Given the description of an element on the screen output the (x, y) to click on. 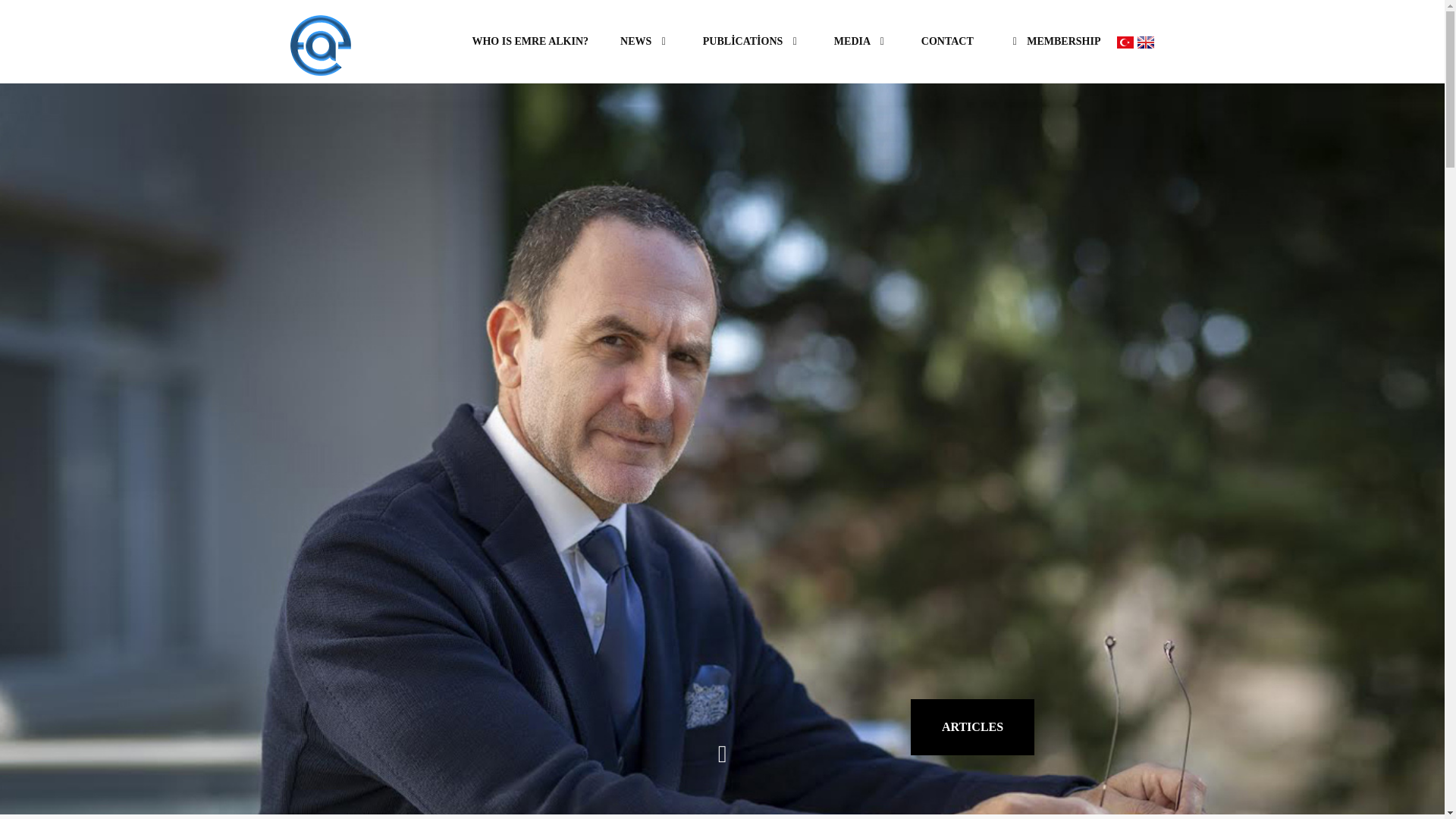
CONTACT (946, 41)
NEWS (645, 41)
WHO IS EMRE ALKIN? (530, 41)
MEDIA (861, 41)
ARTICLES (972, 727)
MEMBERSHIP (1053, 41)
